Given the description of an element on the screen output the (x, y) to click on. 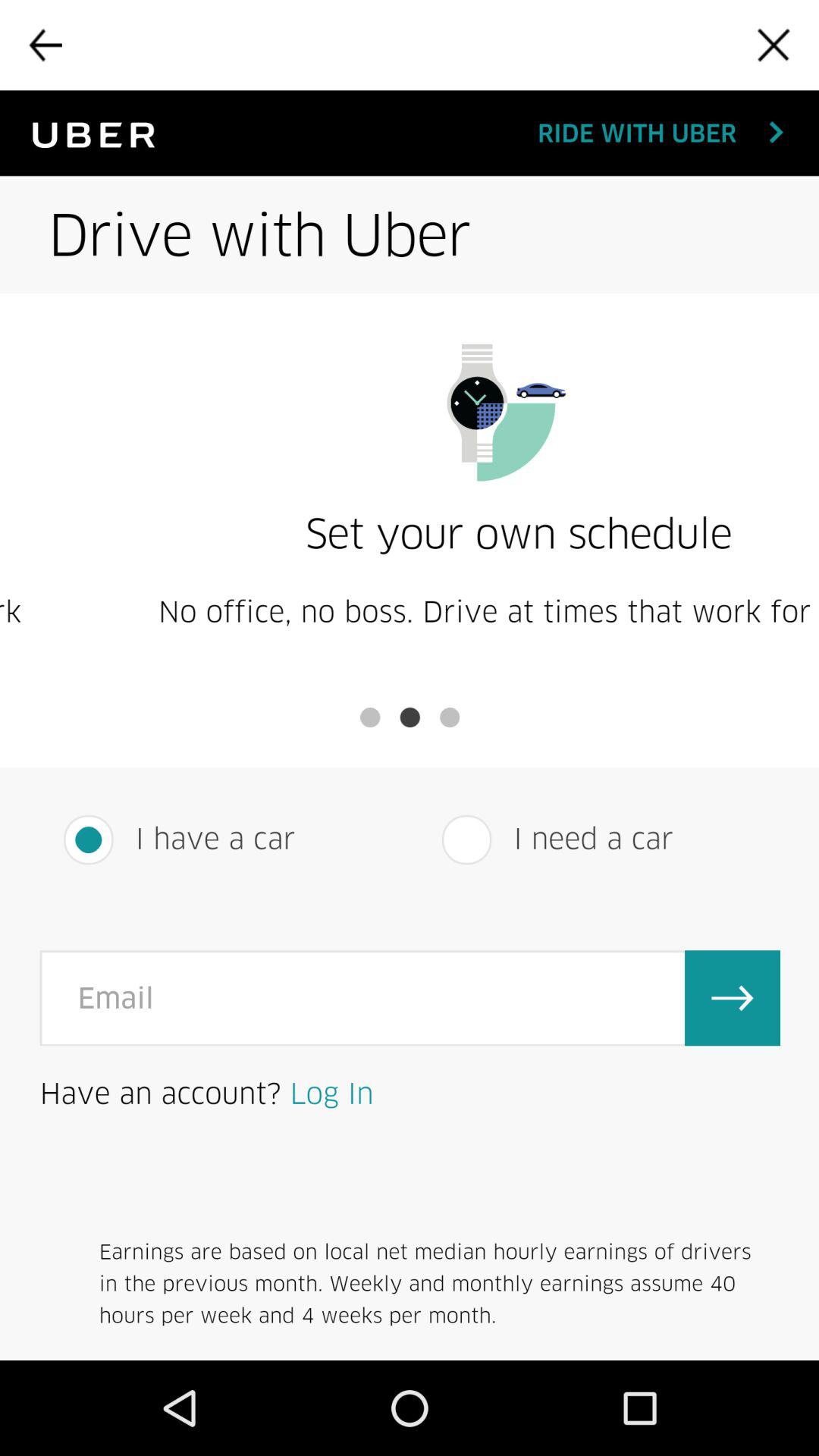
go back (45, 45)
